Given the description of an element on the screen output the (x, y) to click on. 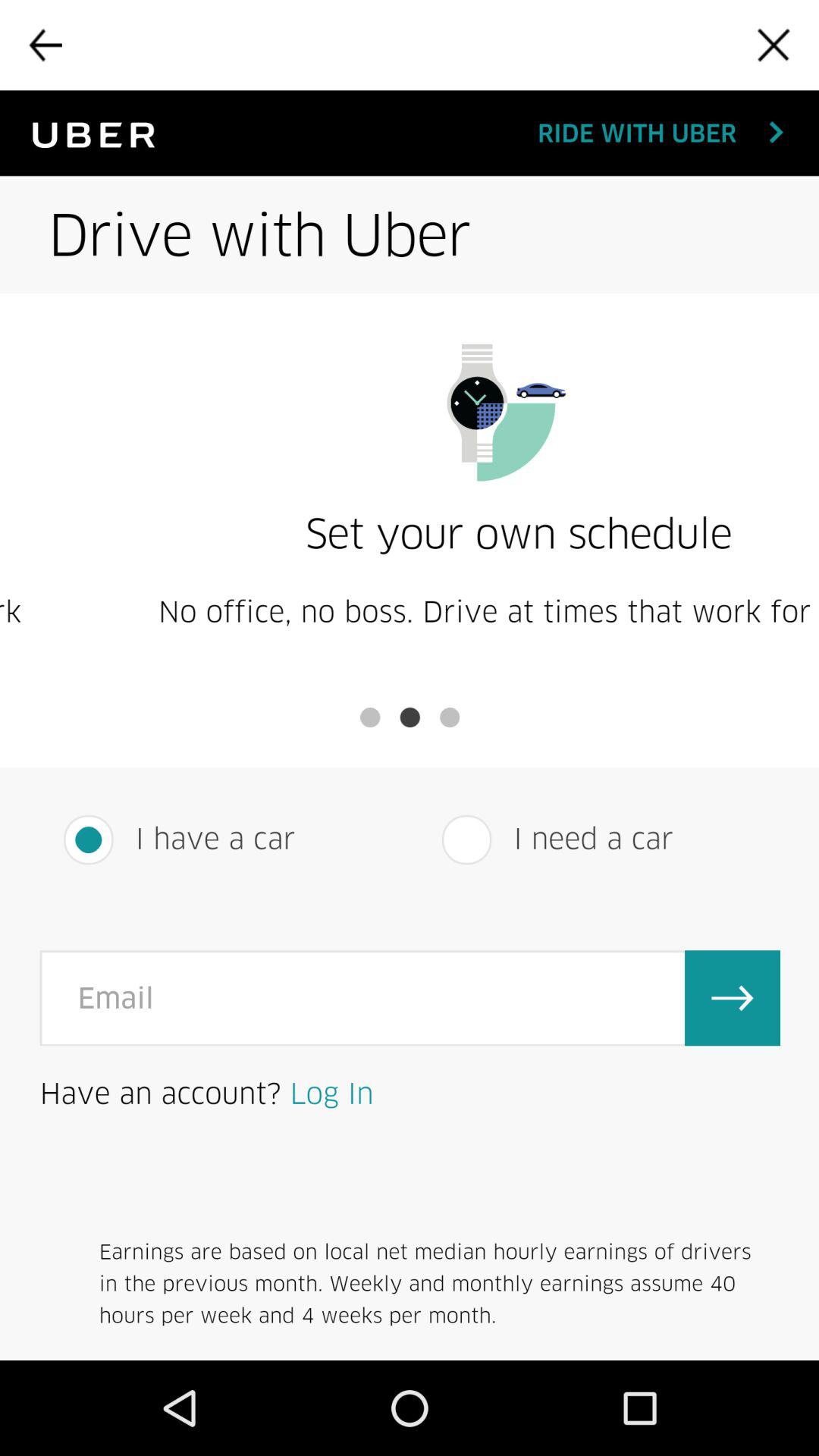
go back (45, 45)
